Given the description of an element on the screen output the (x, y) to click on. 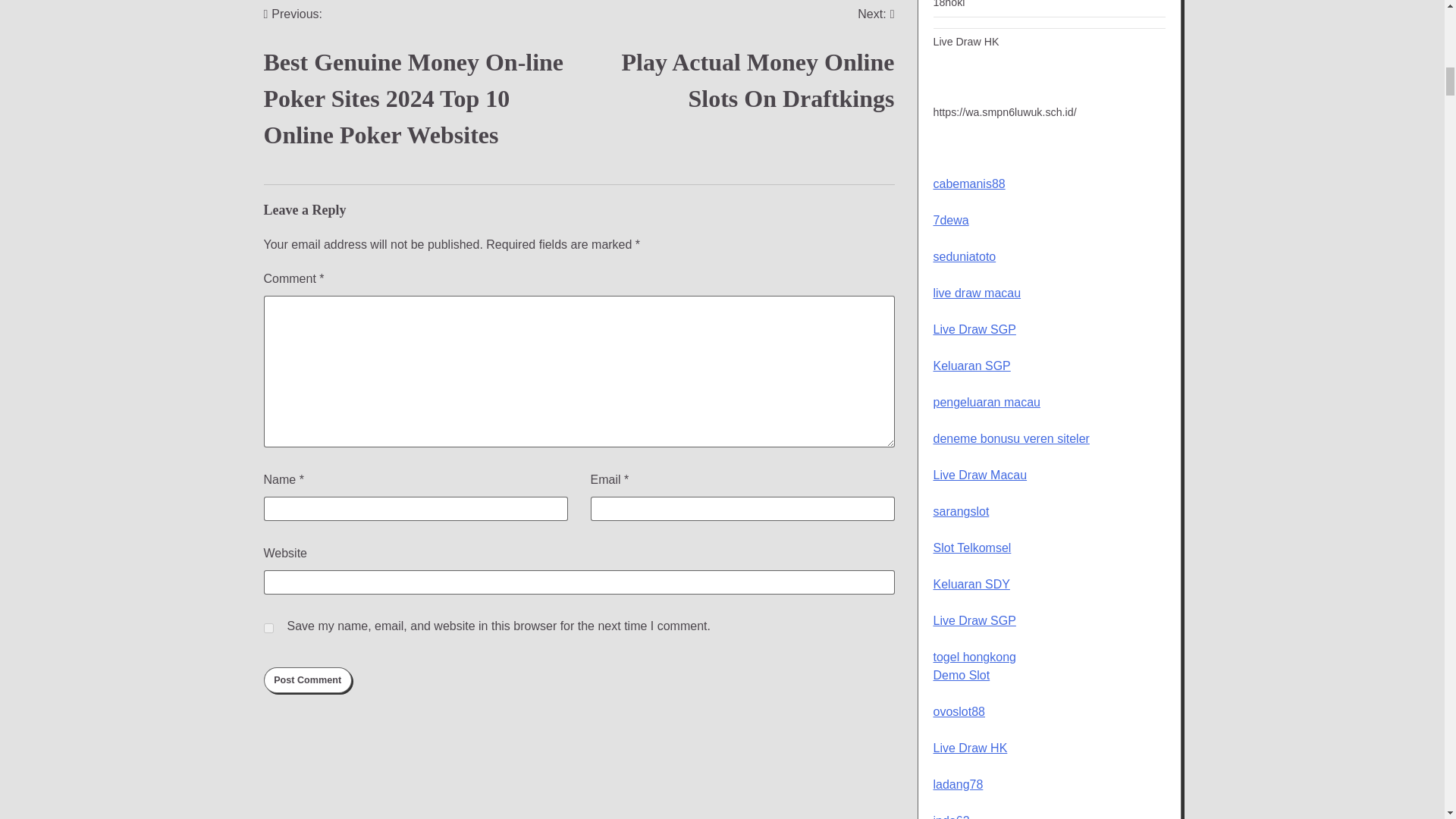
yes (268, 628)
Post Comment (737, 68)
Post Comment (307, 679)
